Given the description of an element on the screen output the (x, y) to click on. 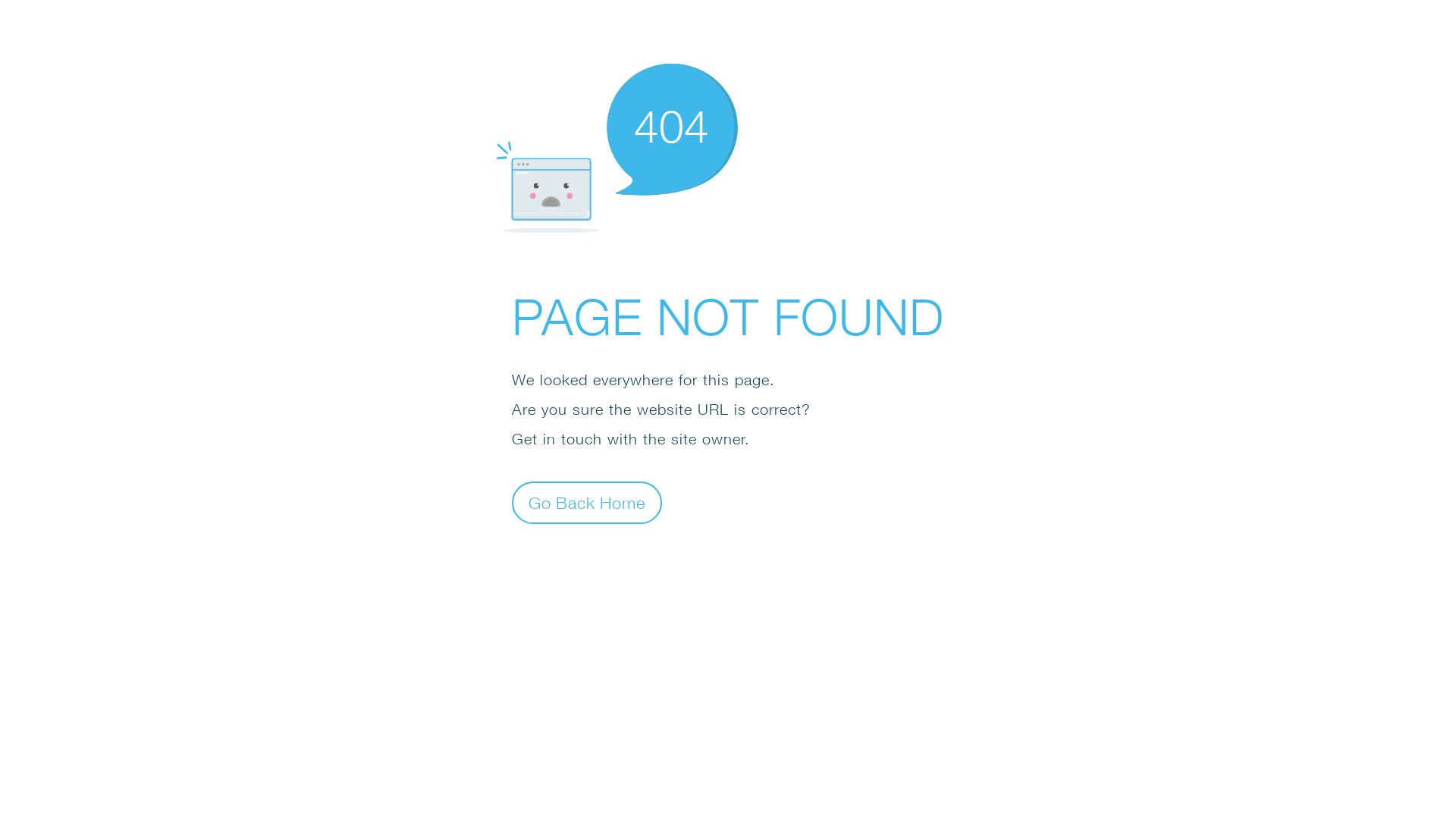
Go Back Home Element type: text (586, 502)
